Given the description of an element on the screen output the (x, y) to click on. 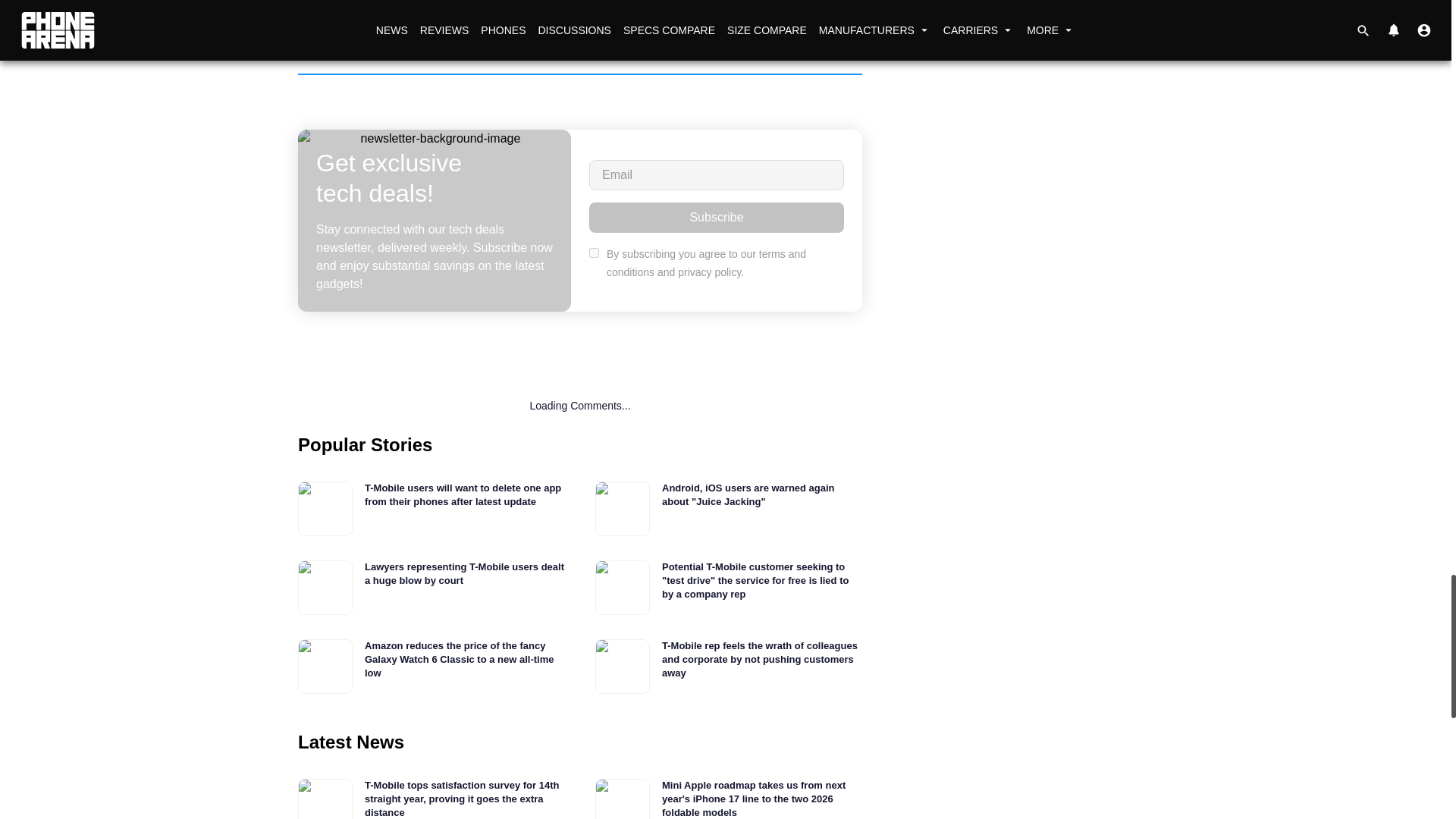
on (593, 252)
